Given the description of an element on the screen output the (x, y) to click on. 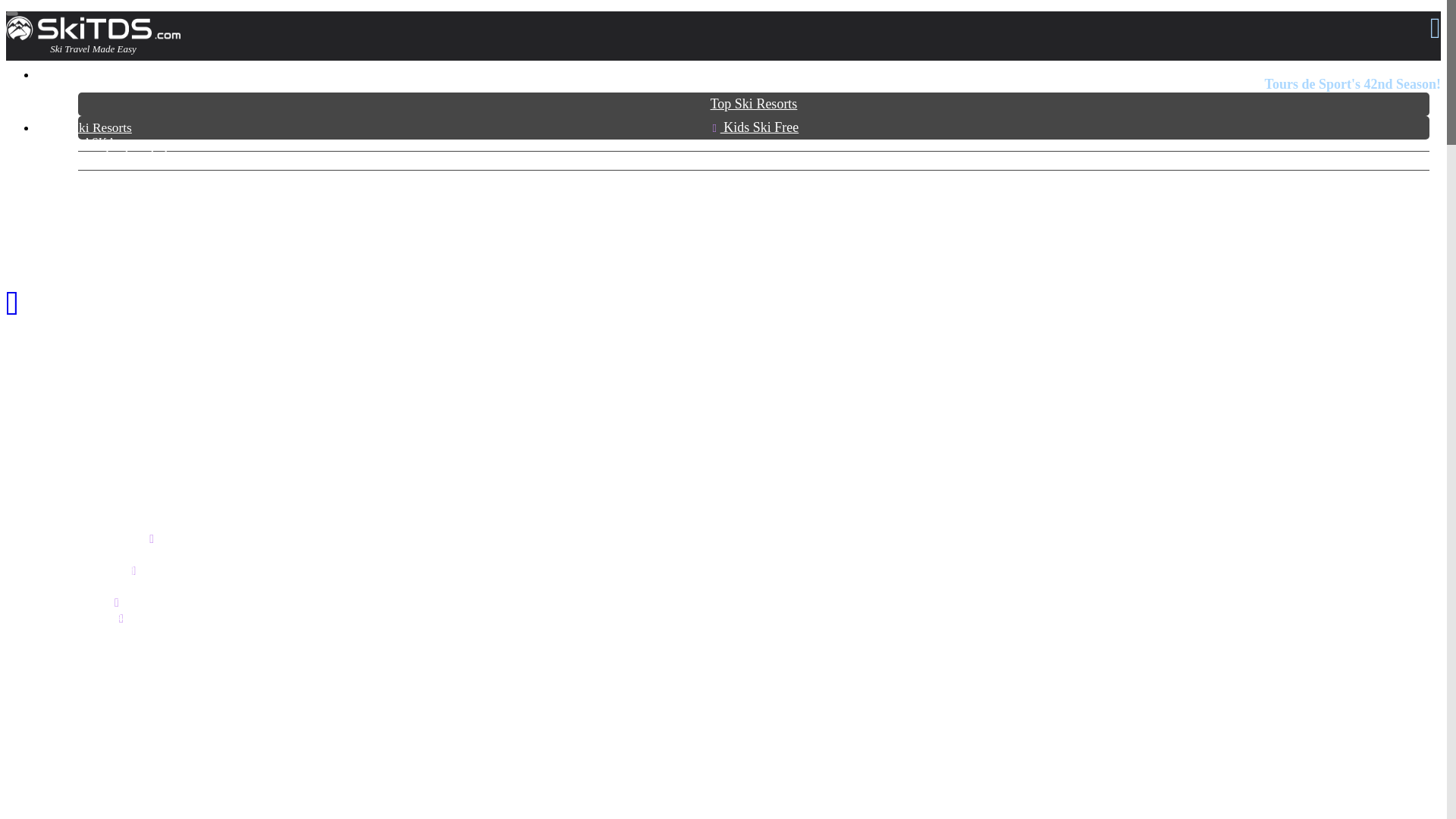
South Lake Tahoe (104, 277)
MONTANA (94, 740)
COLORADO (97, 523)
Beaver Creek (95, 555)
CALIFORNIA (100, 229)
Top Ski Resorts (753, 104)
Alyeska (83, 201)
IDAHO (83, 695)
CANADA EAST (104, 306)
CANADA - WEST (108, 351)
Sun Valley (89, 711)
Kids Ski Free (753, 127)
Mt Tremblant, QC (105, 322)
Crested Butte (95, 586)
Steamboat (89, 618)
